Given the description of an element on the screen output the (x, y) to click on. 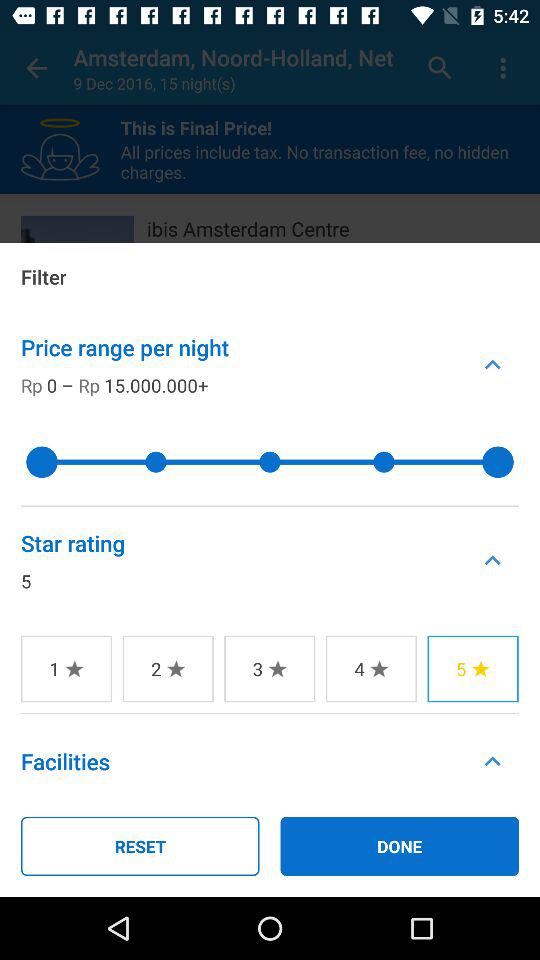
open icon next to the done icon (140, 846)
